Given the description of an element on the screen output the (x, y) to click on. 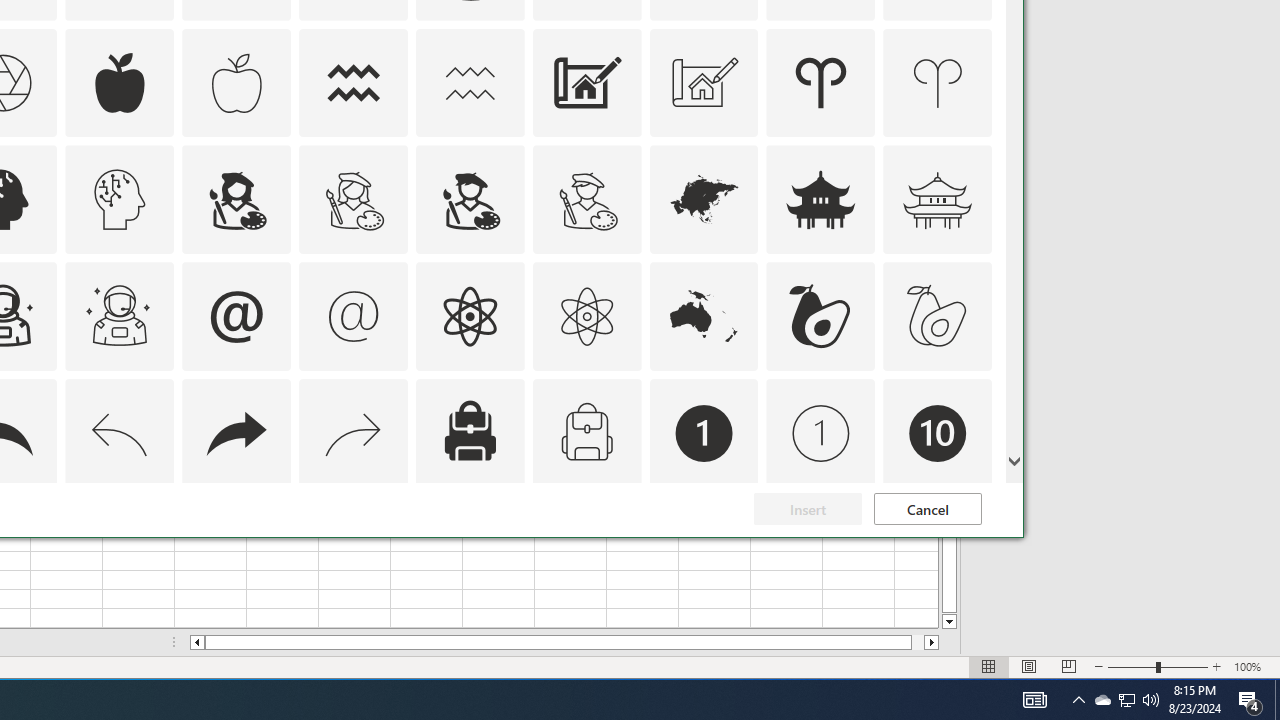
AutomationID: Icons_Apple (120, 82)
AutomationID: Icons_Badge1_M (820, 434)
AutomationID: Icons_Badge10 (938, 434)
AutomationID: Icons_Backpack_M (586, 434)
AutomationID: Icons_Back_RTL_M (353, 434)
